Given the description of an element on the screen output the (x, y) to click on. 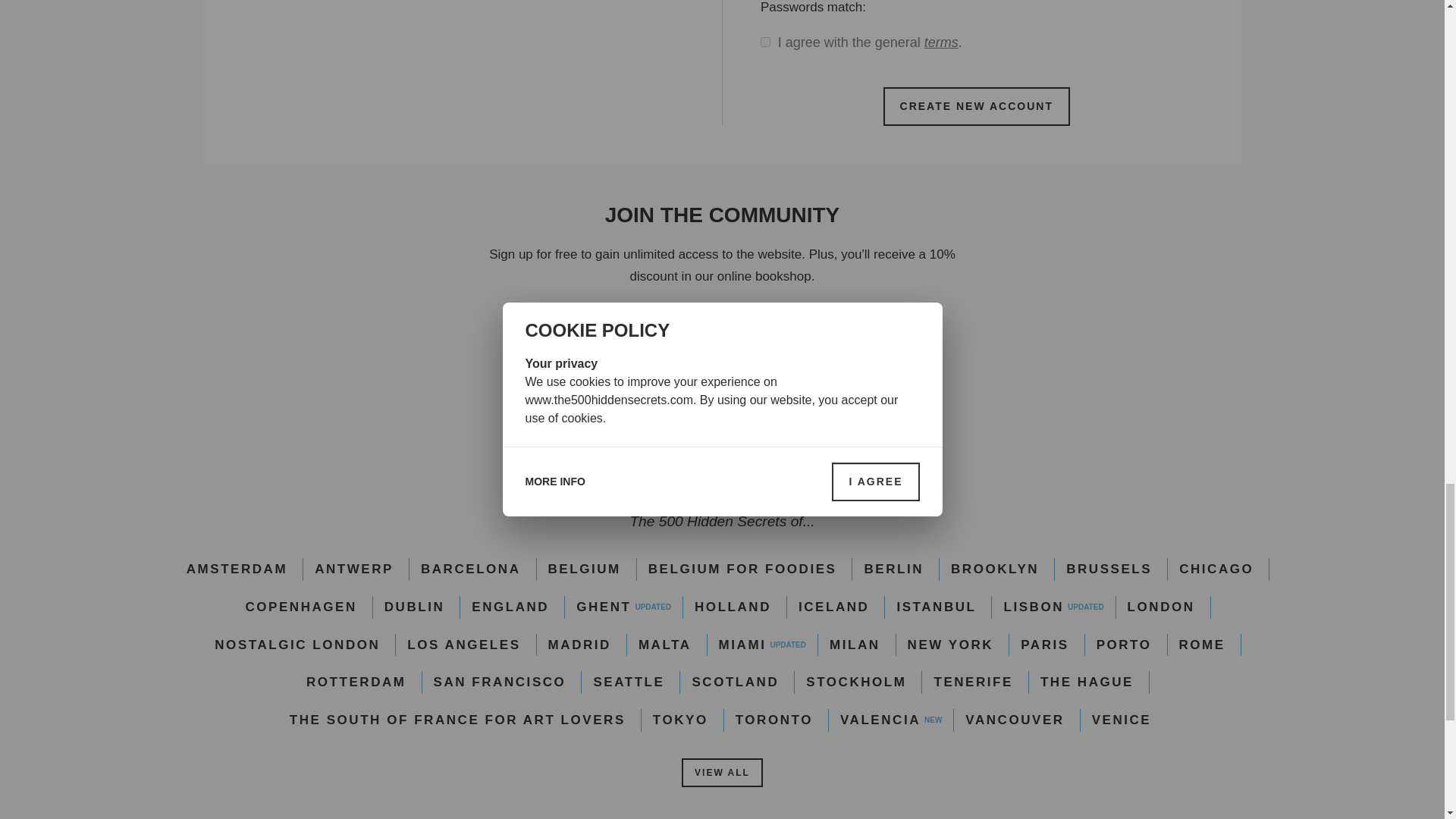
1 (765, 41)
terms (941, 42)
Create new account (976, 106)
SIGN UP (722, 326)
Create new account (976, 106)
